Given the description of an element on the screen output the (x, y) to click on. 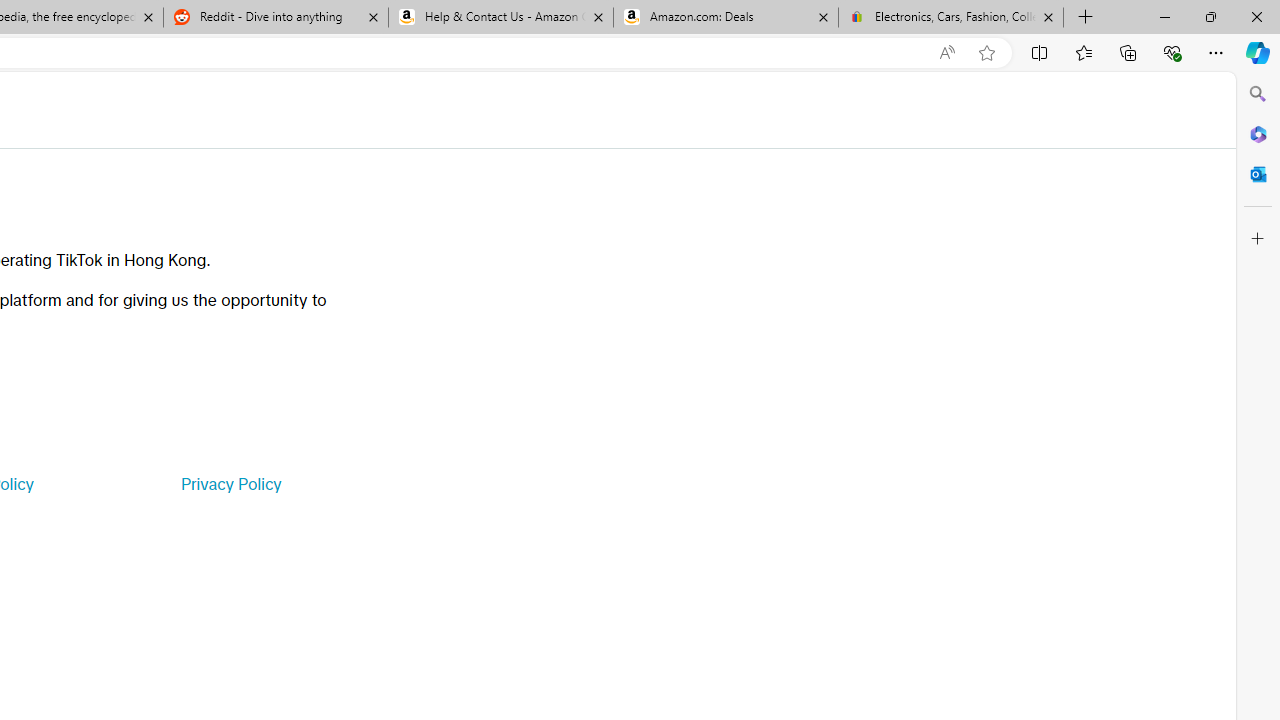
Amazon.com: Deals (726, 17)
Privacy Policy (230, 484)
